Given the description of an element on the screen output the (x, y) to click on. 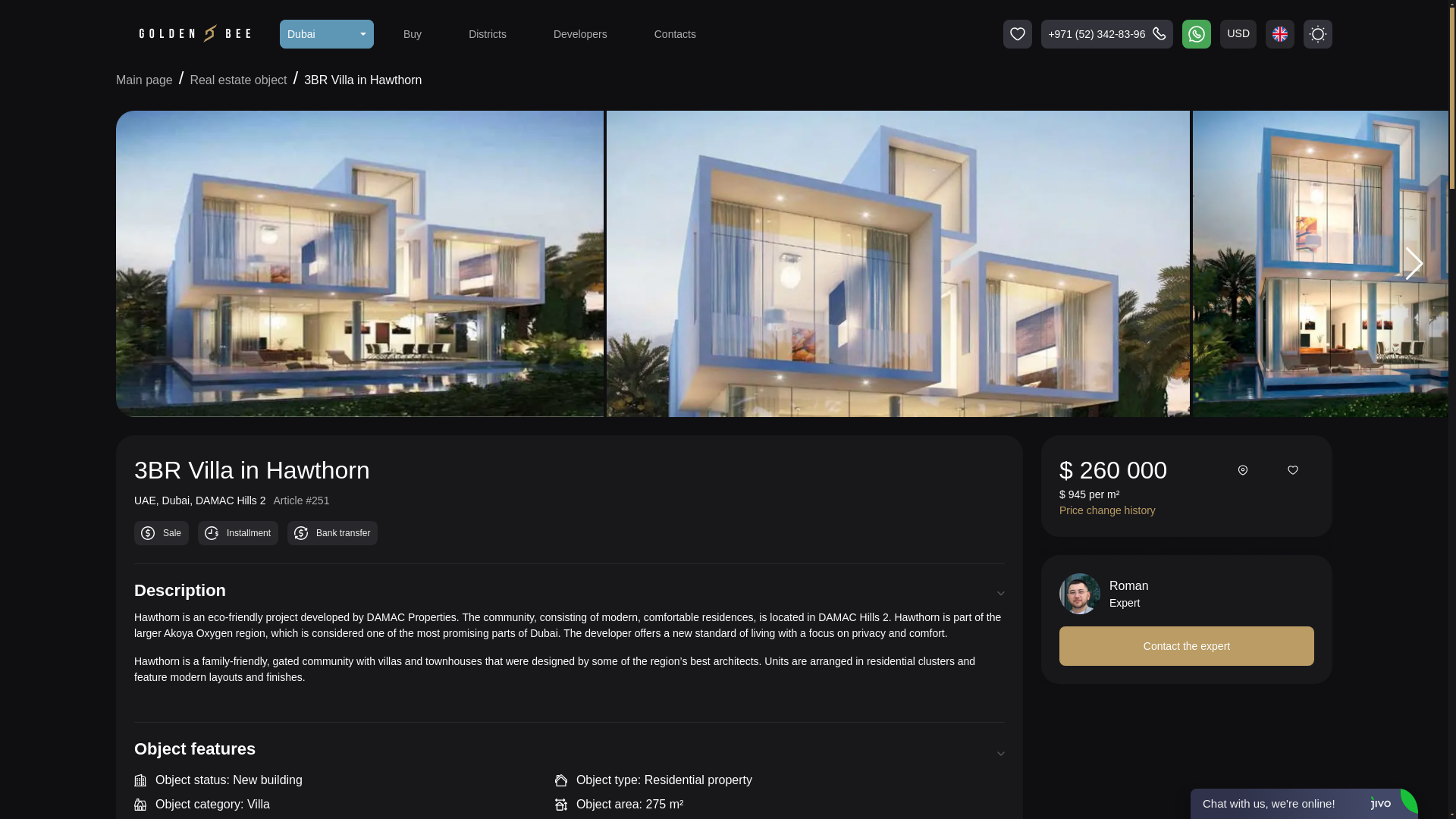
Districts (487, 33)
Contacts (675, 33)
Favorites (1017, 33)
Real estate object (237, 79)
Main page (144, 79)
WhatsApp (1186, 697)
Developers (580, 33)
E-mail (1186, 737)
Buy (411, 33)
